Given the description of an element on the screen output the (x, y) to click on. 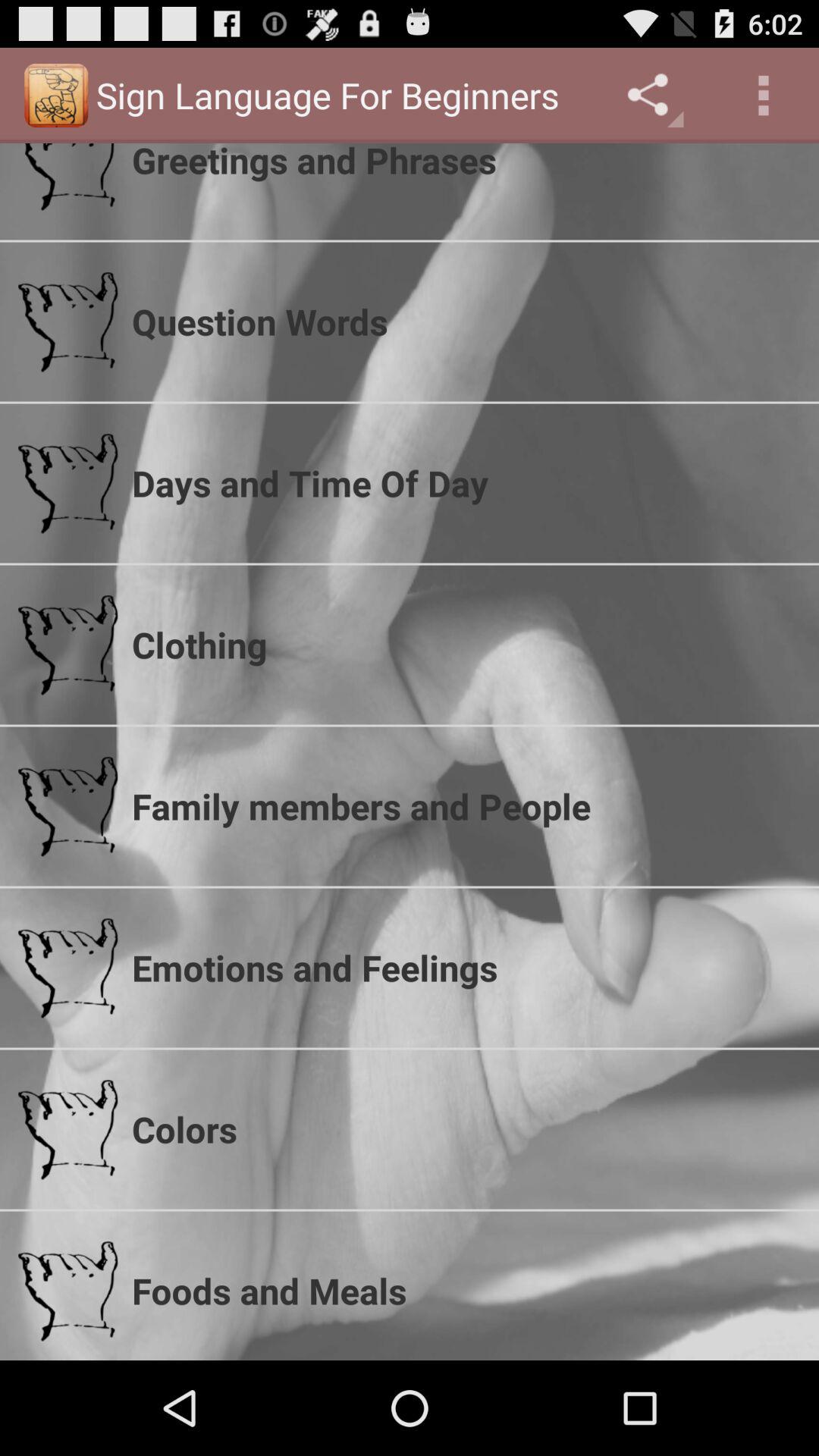
choose the colors icon (465, 1129)
